Given the description of an element on the screen output the (x, y) to click on. 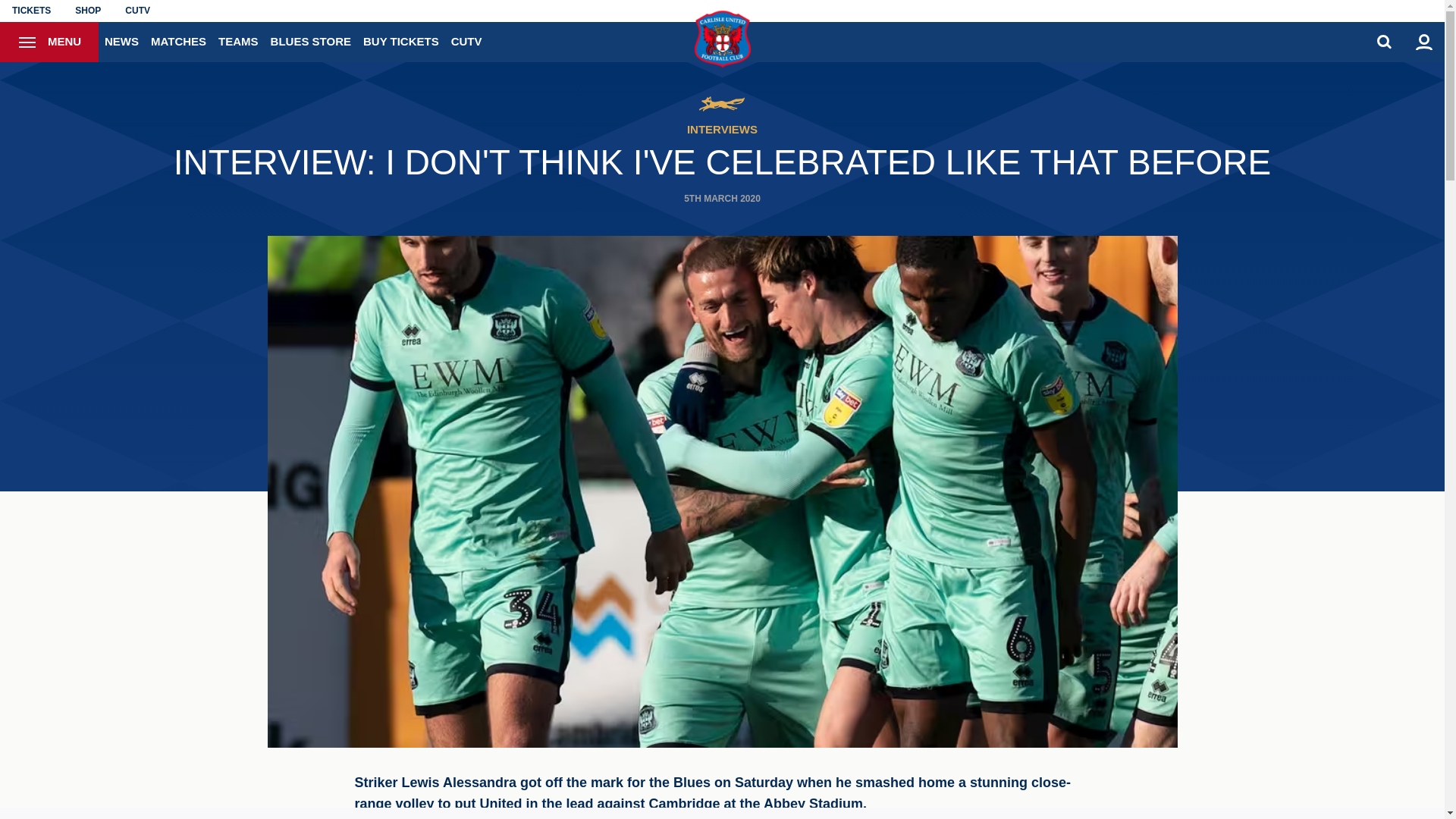
SHOP (87, 11)
TICKETS (31, 11)
CUTV (137, 11)
MENU (49, 42)
